Given the description of an element on the screen output the (x, y) to click on. 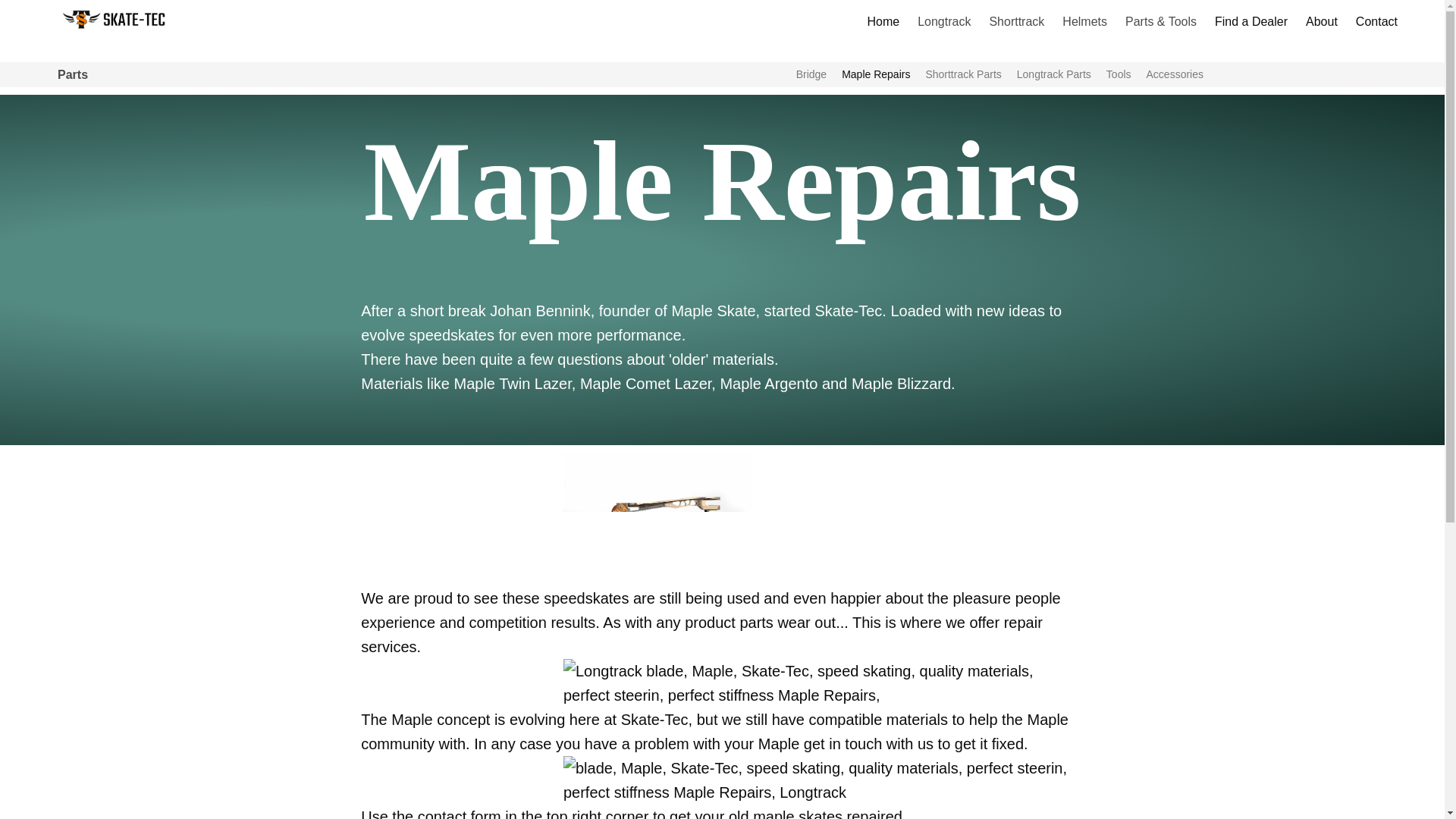
Home (882, 22)
About (1321, 22)
Longtrack (943, 21)
Contact (1376, 22)
Find a Dealer (1251, 22)
Helmets (1084, 21)
Shorttrack (1015, 21)
